Given the description of an element on the screen output the (x, y) to click on. 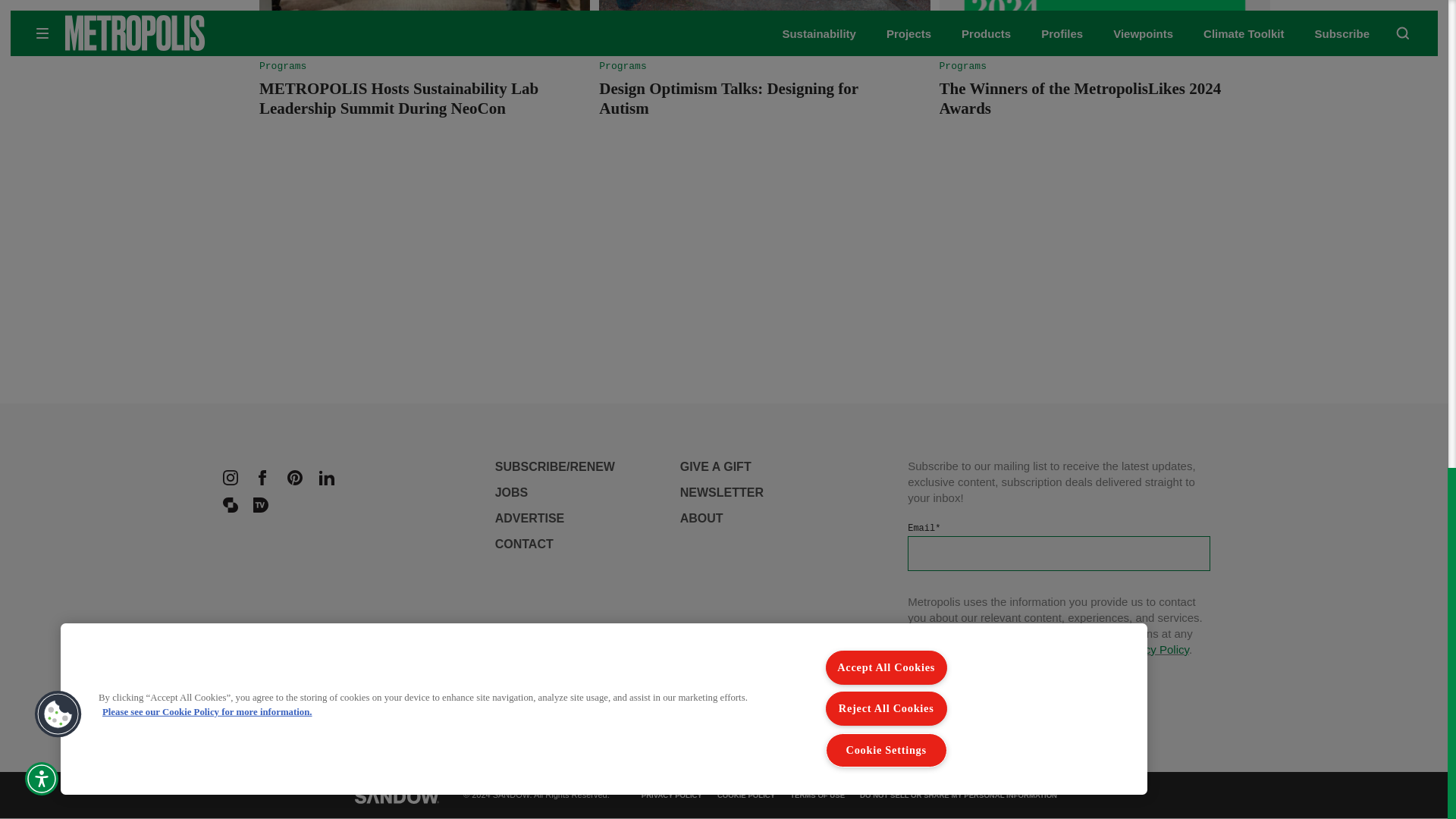
Submit (954, 685)
